Given the description of an element on the screen output the (x, y) to click on. 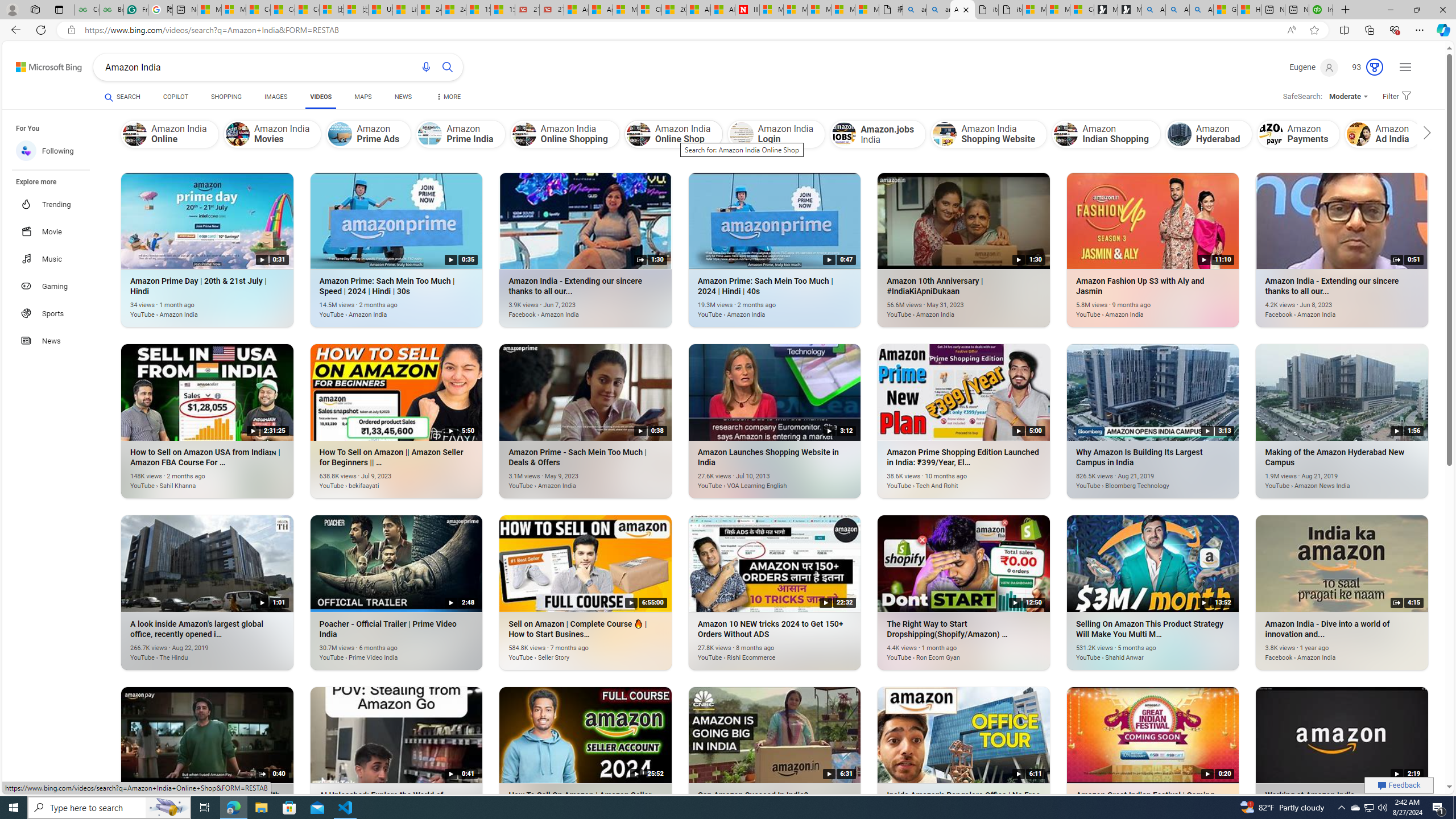
Amazon Hyderabad (1179, 133)
Amazon Hyderabad (1208, 134)
Back to Bing search (41, 64)
Poacher - Official Trailer | Prime Video India (379, 650)
Amazon Payments (1269, 133)
Amazon Launches Shopping Website in India (757, 479)
Amazon Prime Ads (339, 133)
